Given the description of an element on the screen output the (x, y) to click on. 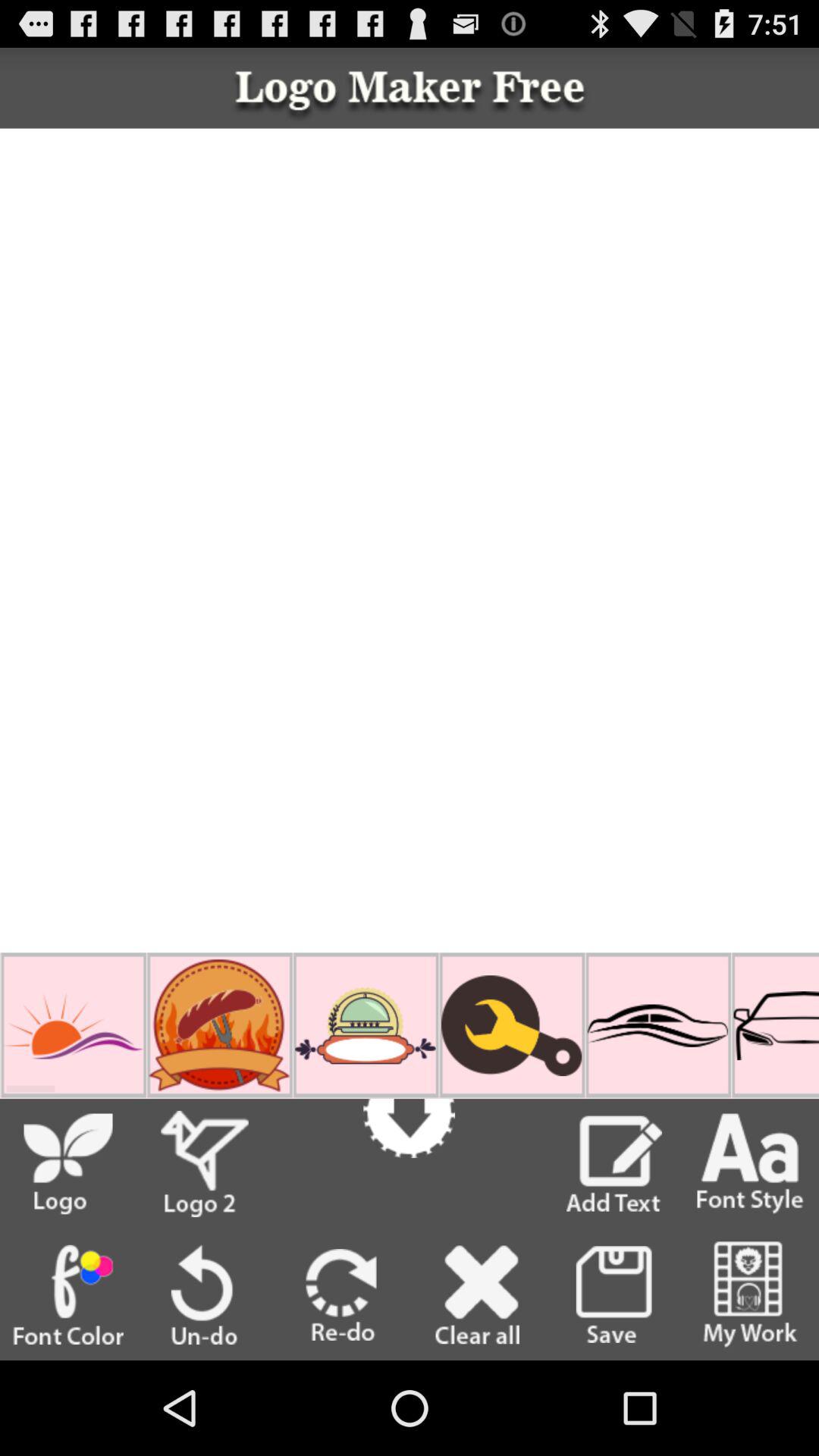
click undo (204, 1293)
click redo (341, 1294)
select my work (750, 1294)
select the downward icon (409, 1111)
select clear all (477, 1294)
click font color (68, 1293)
click on the font style (750, 1163)
